Given the description of an element on the screen output the (x, y) to click on. 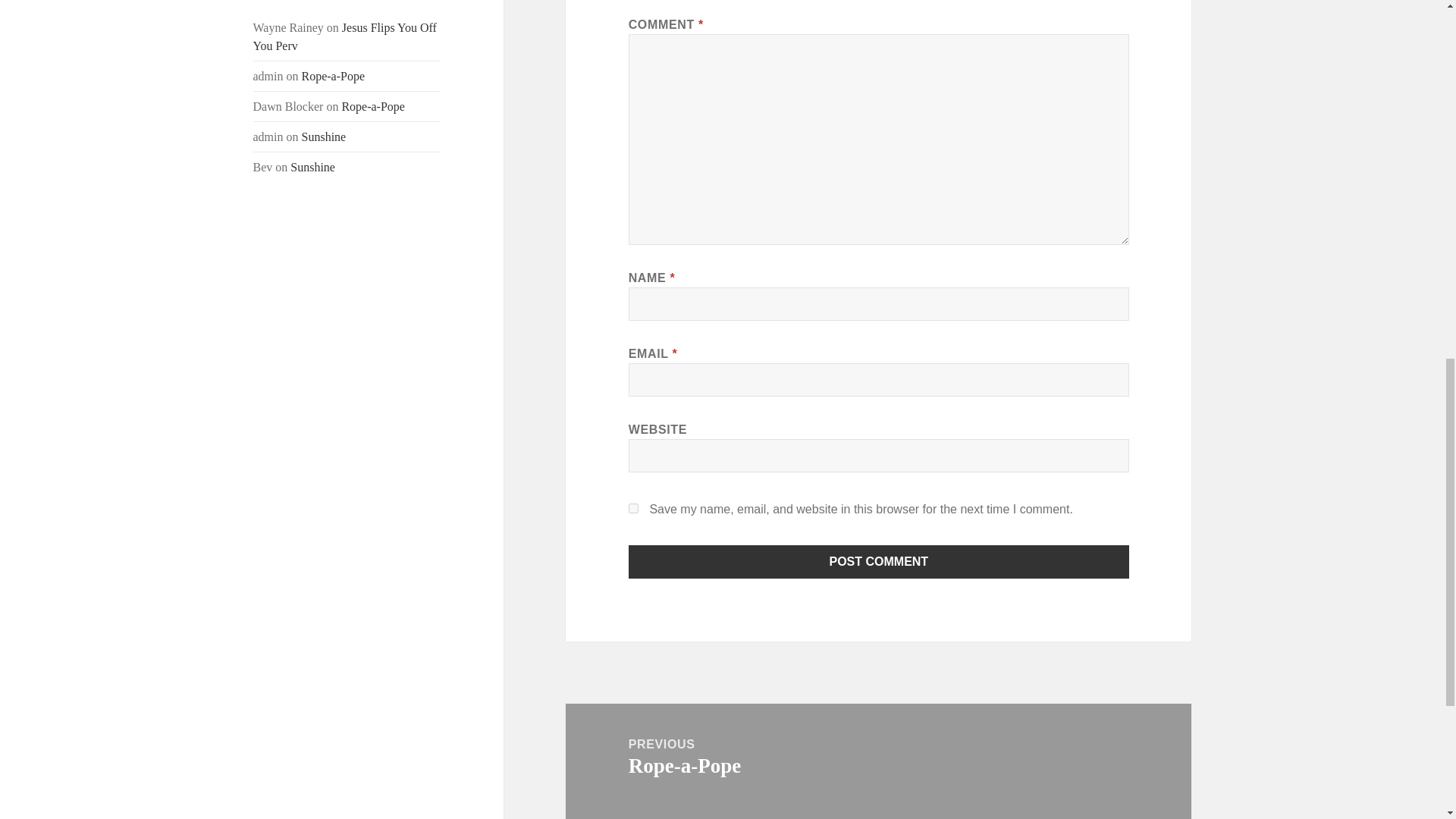
Sunshine (311, 166)
Sunshine (323, 136)
Jesus Flips You Off You Perv (344, 36)
Post Comment (878, 561)
yes (633, 508)
Rope-a-Pope (372, 106)
Post Comment (878, 561)
Rope-a-Pope (878, 756)
